Given the description of an element on the screen output the (x, y) to click on. 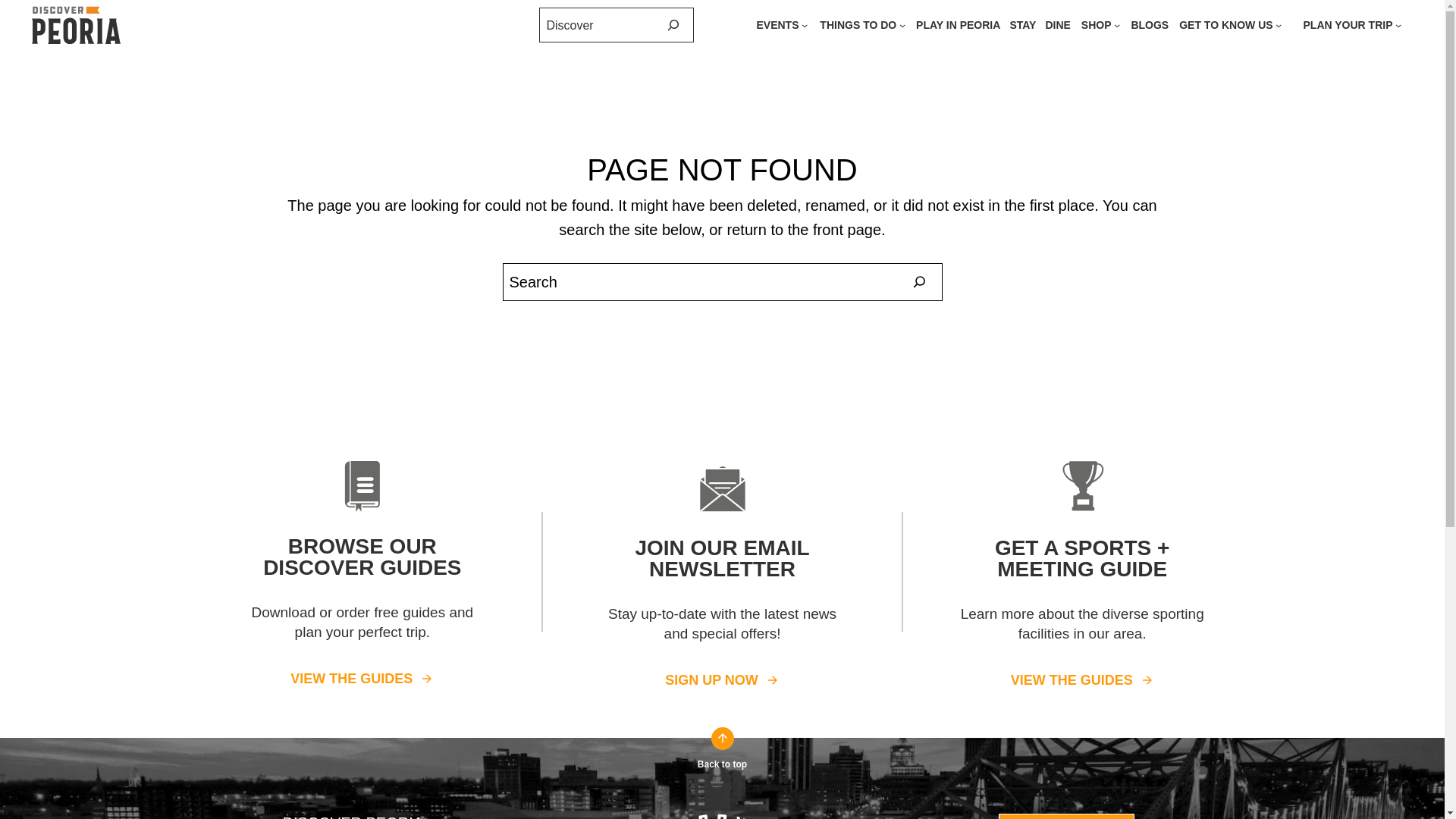
Things To Do (857, 24)
THINGS TO DO (857, 24)
STAY (1022, 24)
SHOP (1096, 24)
Industry (1348, 24)
Plan (1225, 24)
Shop (1096, 24)
PLAY IN PEORIA (957, 24)
Hotels (1022, 24)
DINE (1057, 24)
GET TO KNOW US (1225, 24)
EVENTS (776, 24)
Restaurants (1057, 24)
PLAN YOUR TRIP (1348, 24)
BLOGS (1150, 24)
